Given the description of an element on the screen output the (x, y) to click on. 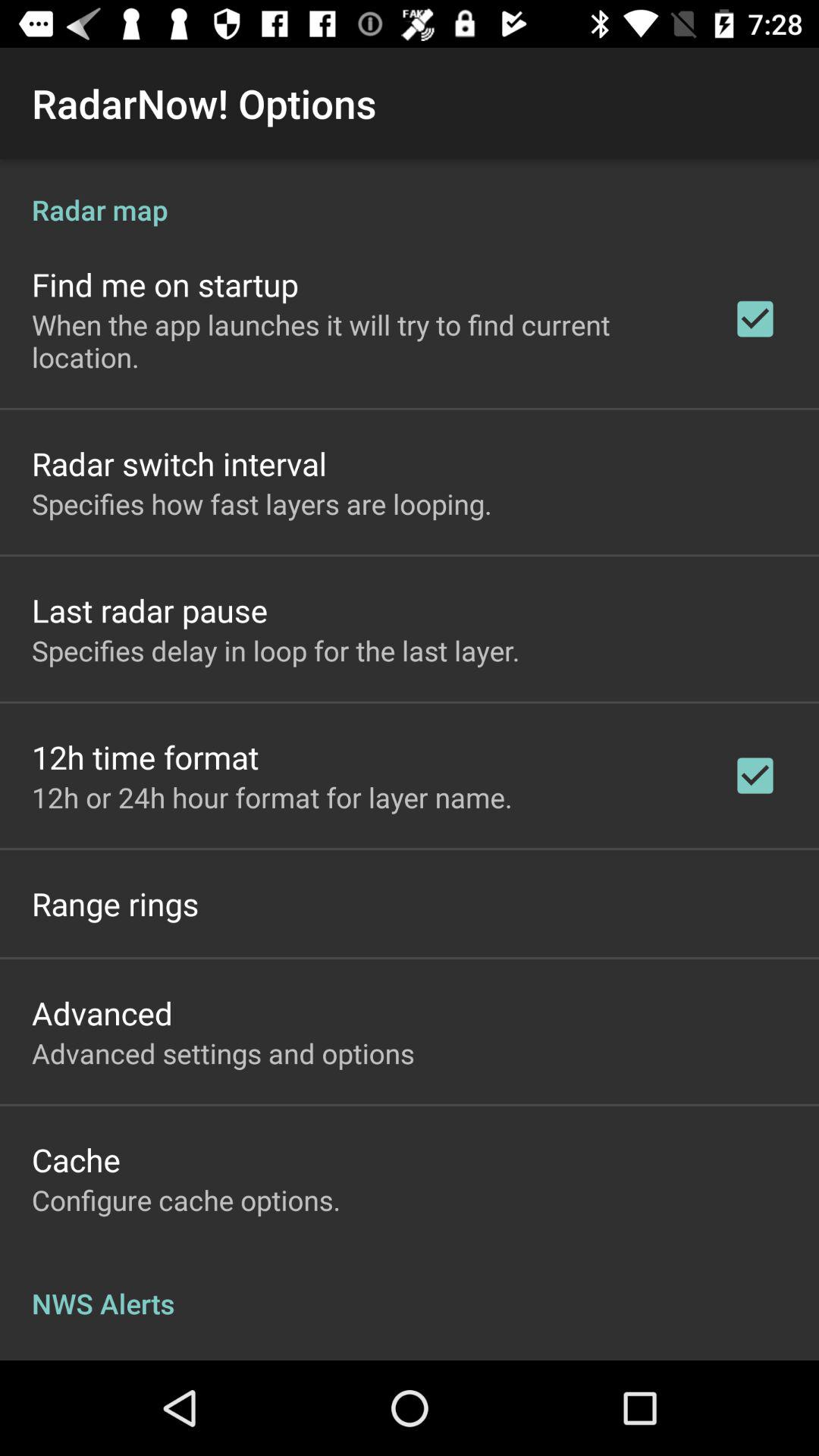
scroll to specifies delay in app (275, 650)
